Given the description of an element on the screen output the (x, y) to click on. 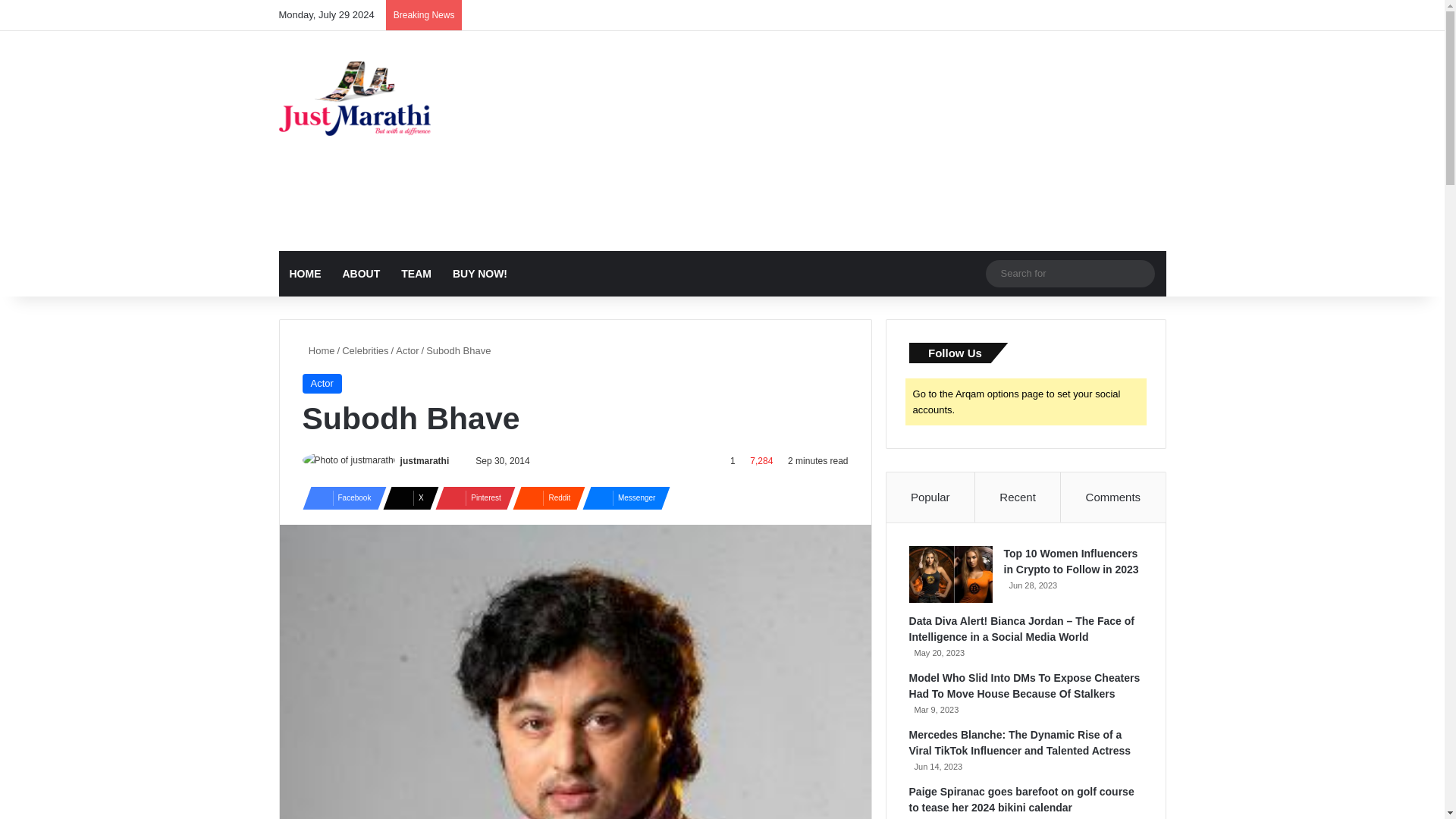
Home (317, 350)
BUY NOW! (480, 273)
Search for (1139, 273)
justmarathi (424, 460)
X (405, 497)
X (405, 497)
Pinterest (470, 497)
Facebook (339, 497)
Reddit (544, 497)
Messenger (621, 497)
Pinterest (470, 497)
Search for (1069, 272)
TEAM (416, 273)
Celebrities (365, 350)
ABOUT (361, 273)
